Given the description of an element on the screen output the (x, y) to click on. 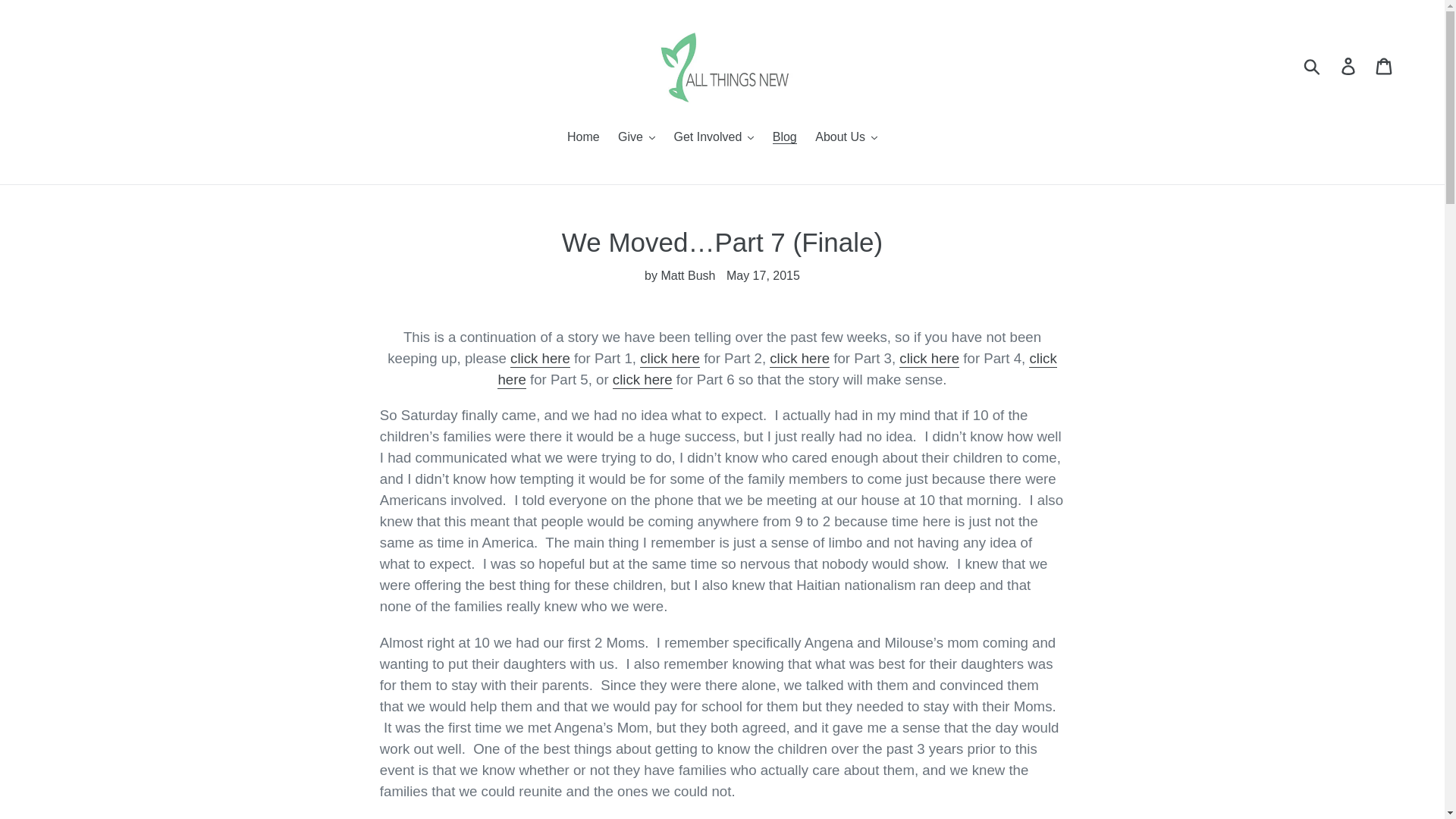
Blog (785, 137)
Home (583, 137)
click here (670, 358)
Submit (1313, 65)
Cart (1385, 65)
click here (540, 358)
Log in (1349, 65)
click here (799, 358)
